Given the description of an element on the screen output the (x, y) to click on. 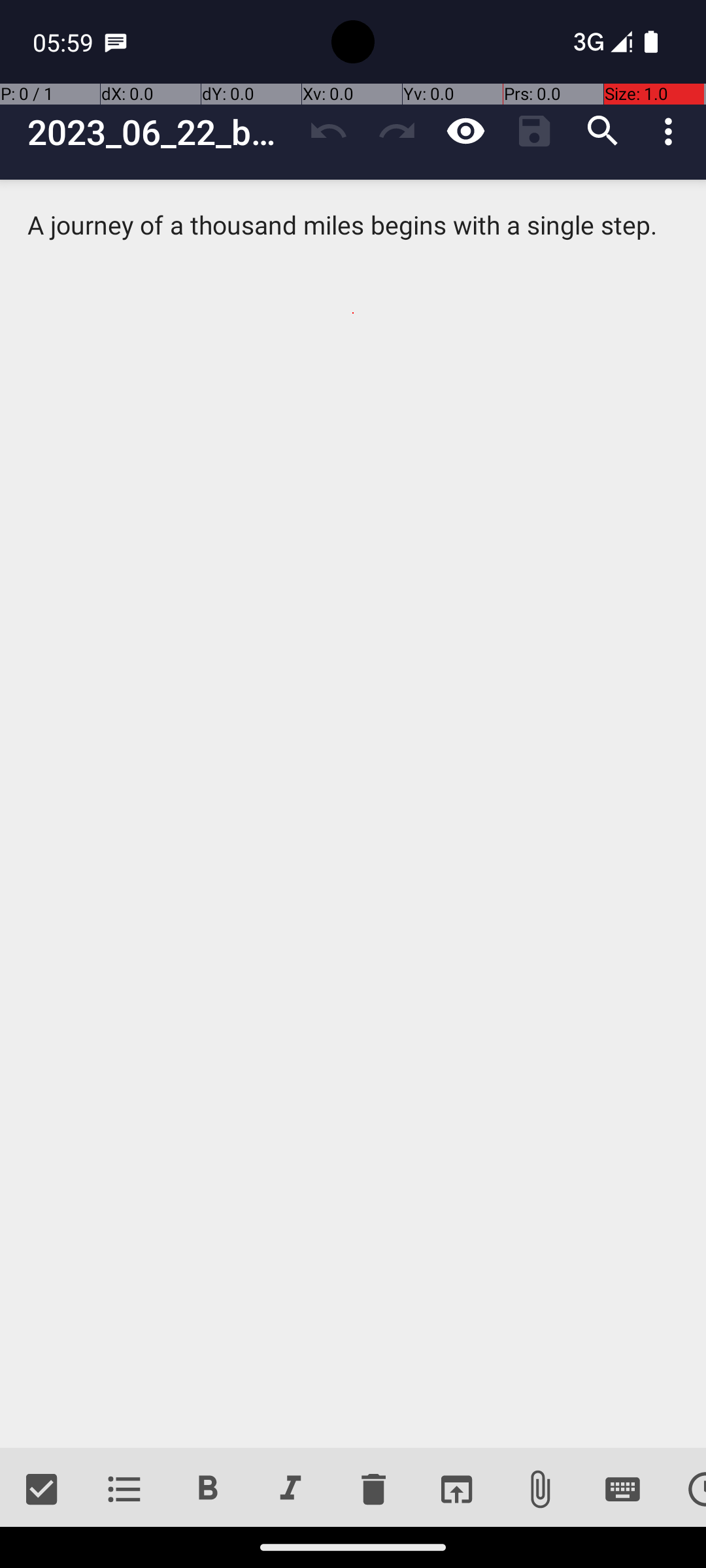
2023_06_22_busy_bear Element type: android.widget.TextView (160, 131)
A journey of a thousand miles begins with a single step.
 Element type: android.widget.EditText (353, 813)
05:59 Element type: android.widget.TextView (64, 41)
